Given the description of an element on the screen output the (x, y) to click on. 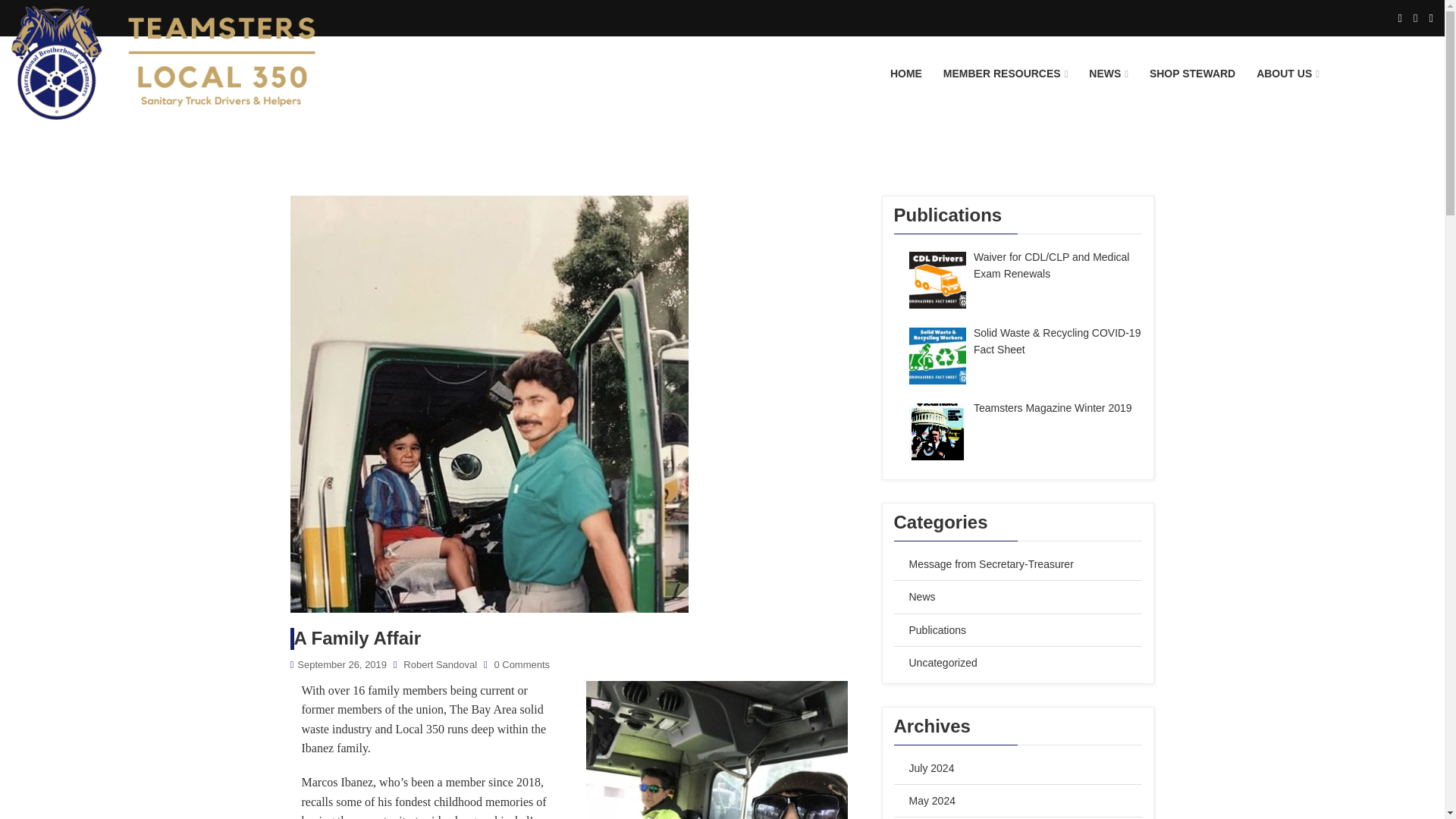
MEMBER RESOURCES (1005, 73)
HOME (905, 73)
SHOP STEWARD (1192, 73)
Instagram (1430, 18)
Twitter (1414, 18)
Teamsters Local 350 (180, 87)
Facebook (1399, 18)
ABOUT US (1287, 73)
NEWS (1108, 73)
